Given the description of an element on the screen output the (x, y) to click on. 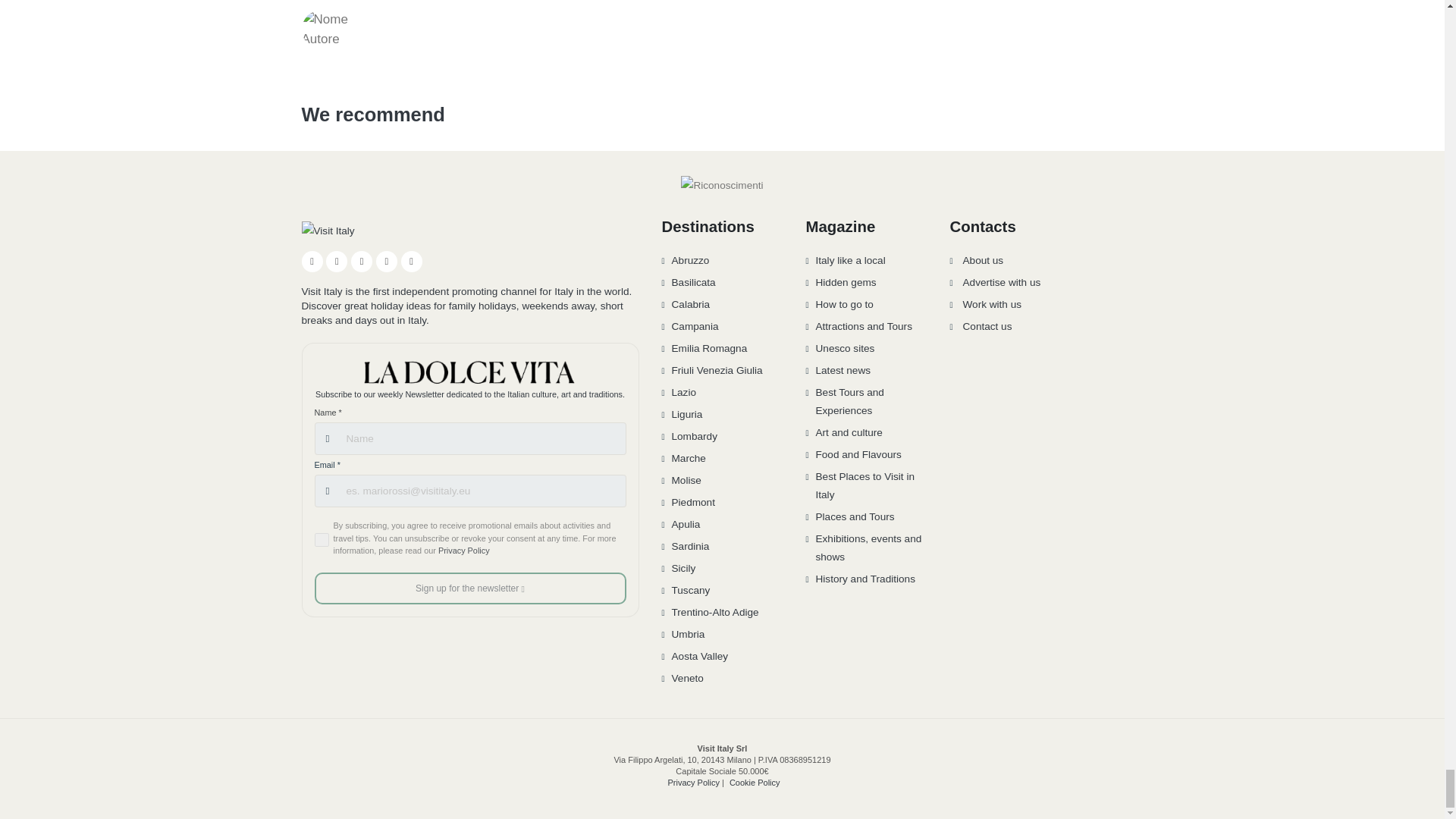
YouTube (361, 260)
TikTok (386, 260)
Instagram (336, 260)
Facebook (312, 260)
Spotify (411, 260)
